Given the description of an element on the screen output the (x, y) to click on. 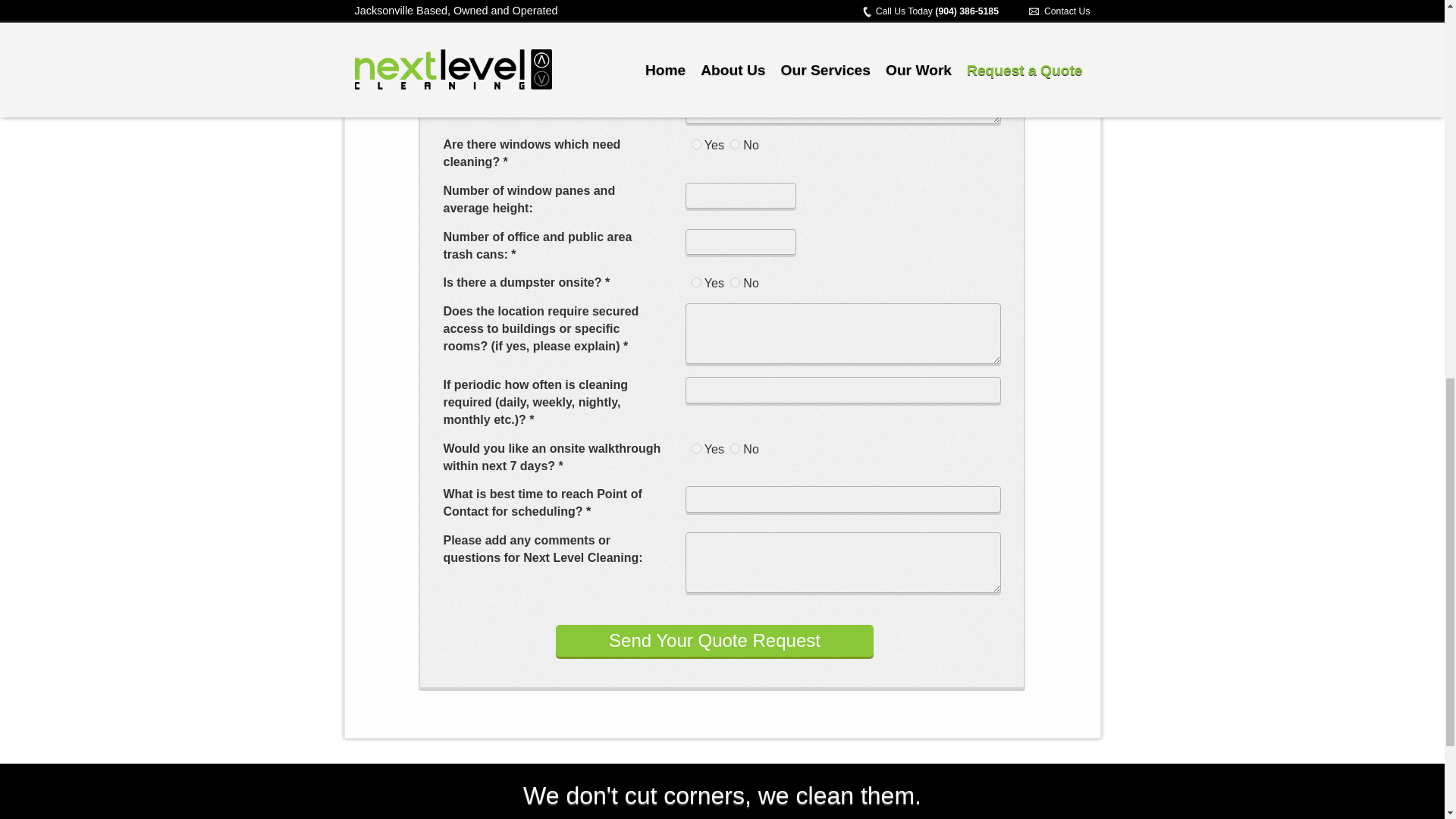
Send Your Quote Request (714, 640)
Yes (696, 144)
No (734, 144)
